Given the description of an element on the screen output the (x, y) to click on. 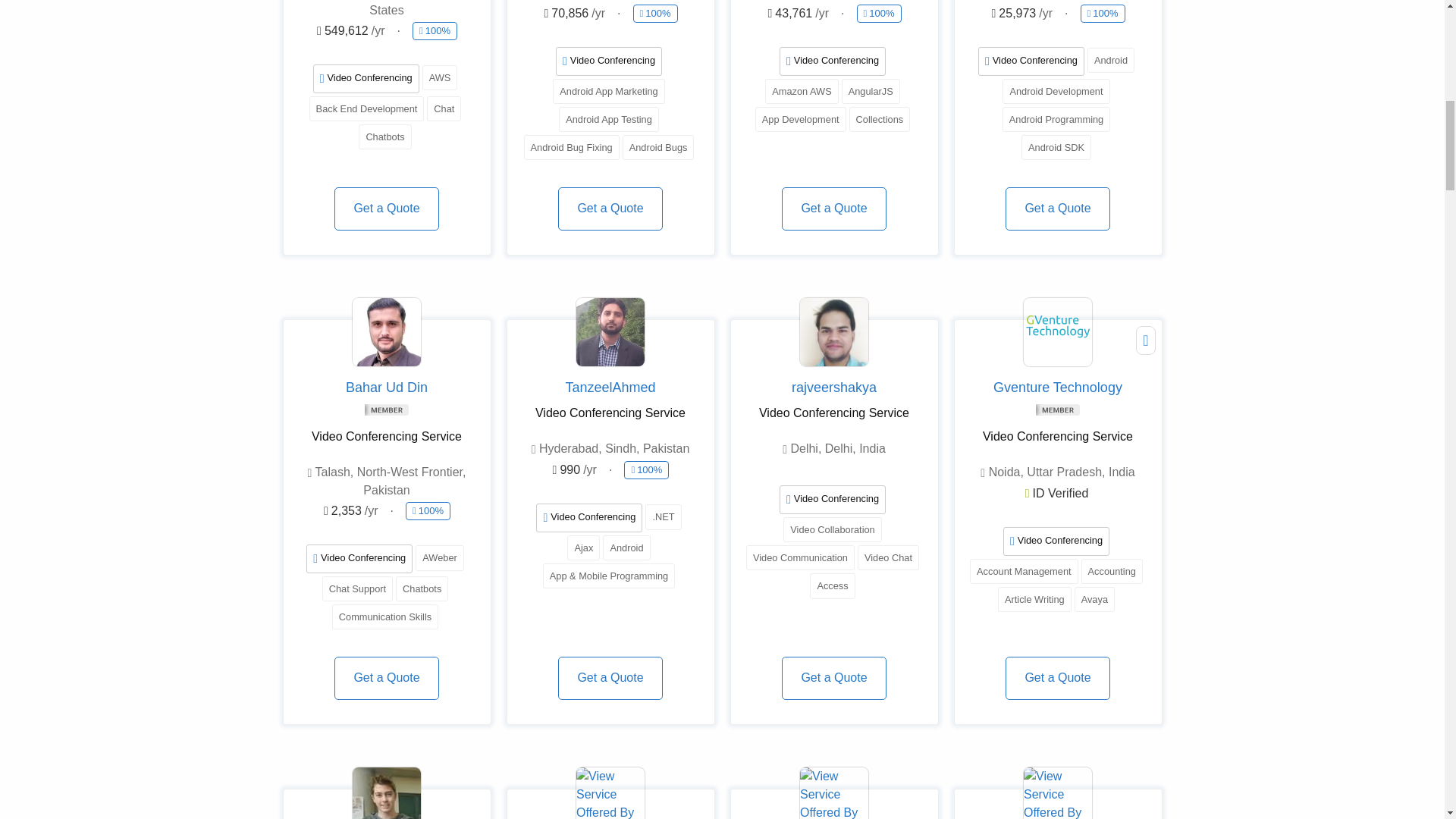
Earnings in last 12 months (573, 470)
Get a Quote (1057, 208)
Earnings in last 12 months (574, 13)
Get a Quote (609, 208)
View Service Offered By Bahar Ud Din  (386, 332)
View Service Offered By Sergey Yezov  (386, 793)
Earnings in last 12 months (797, 13)
View Service Offered By ASCENTEQ INFO SOLUTIONS PVT LTD  (610, 793)
Earnings in last 12 months (1021, 13)
Get a Quote (386, 677)
